Given the description of an element on the screen output the (x, y) to click on. 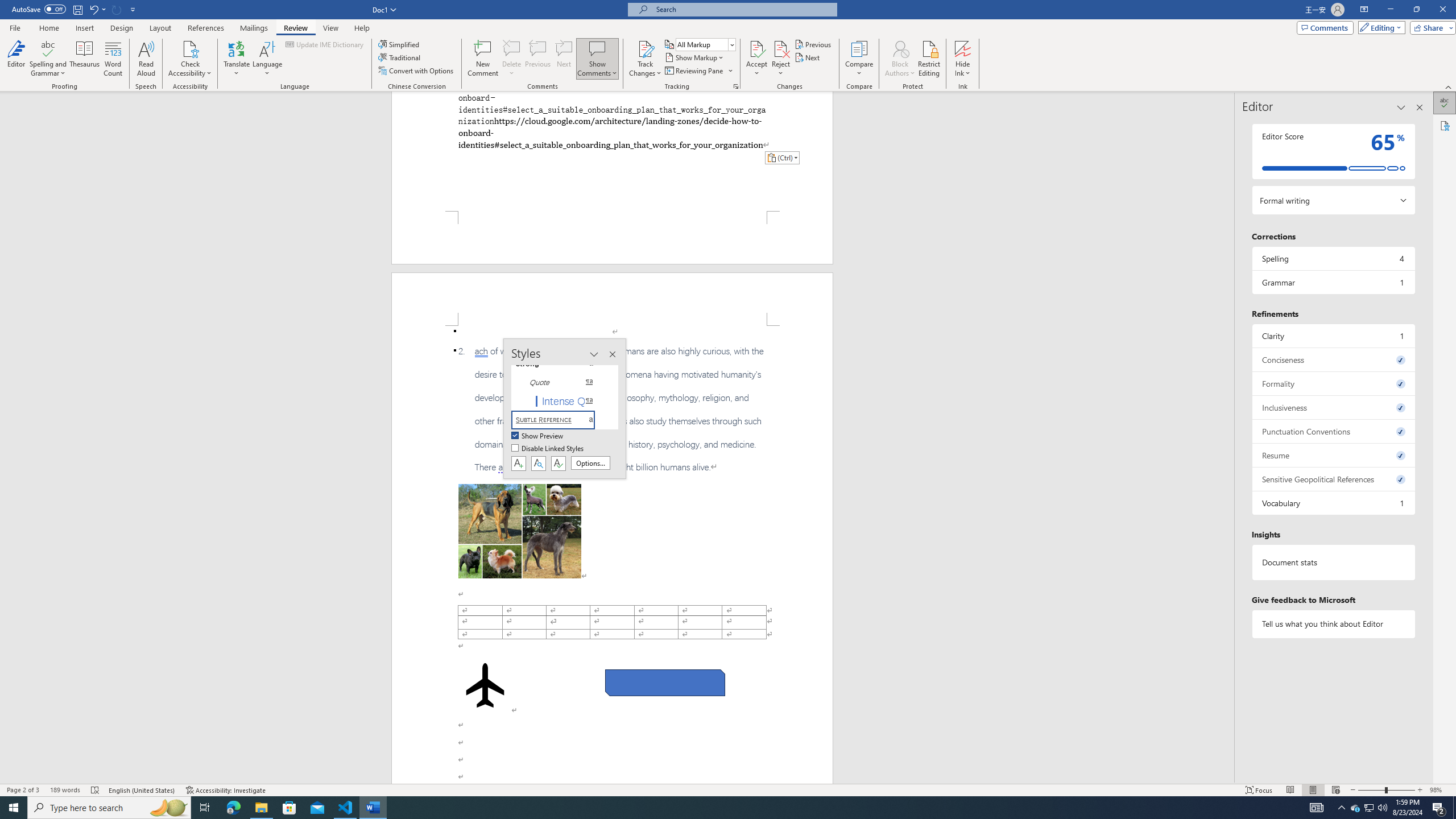
Block Authors (900, 58)
Tell us what you think about Editor (1333, 624)
Accept and Move to Next (756, 48)
Thesaurus... (84, 58)
